Given the description of an element on the screen output the (x, y) to click on. 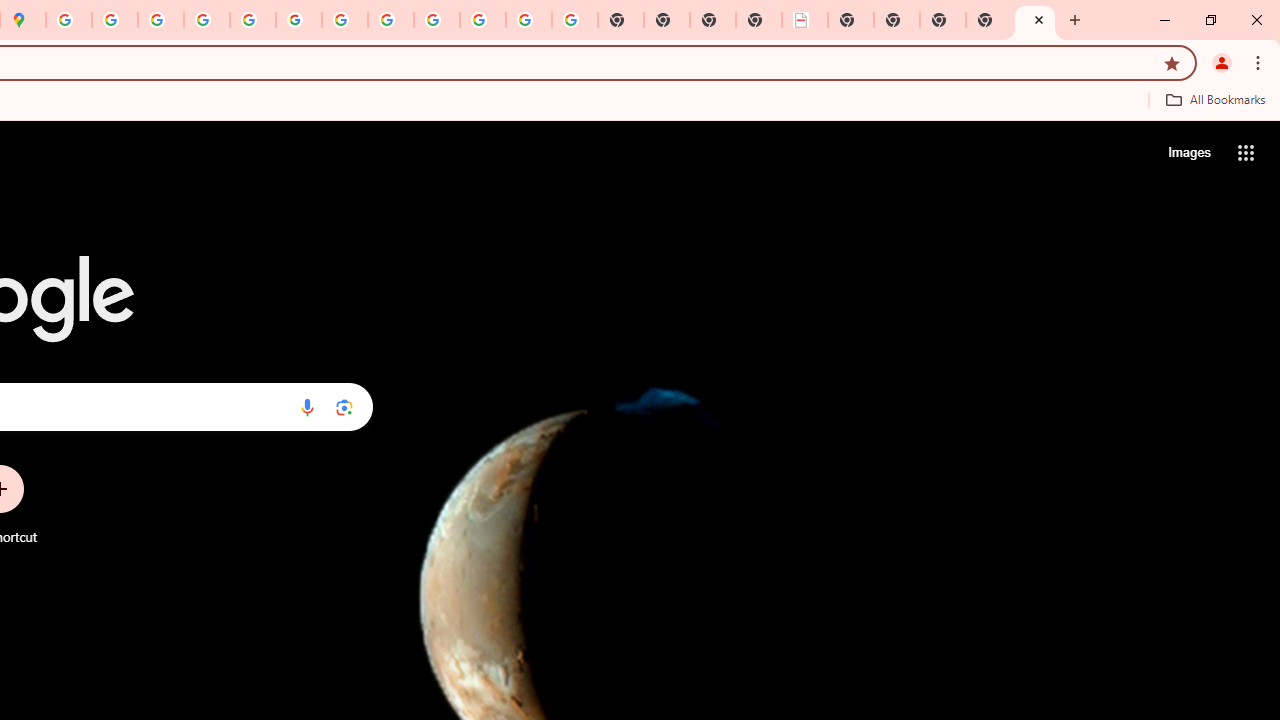
LAAD Defence & Security 2025 | BAE Systems (805, 20)
New Tab (1035, 20)
